Given the description of an element on the screen output the (x, y) to click on. 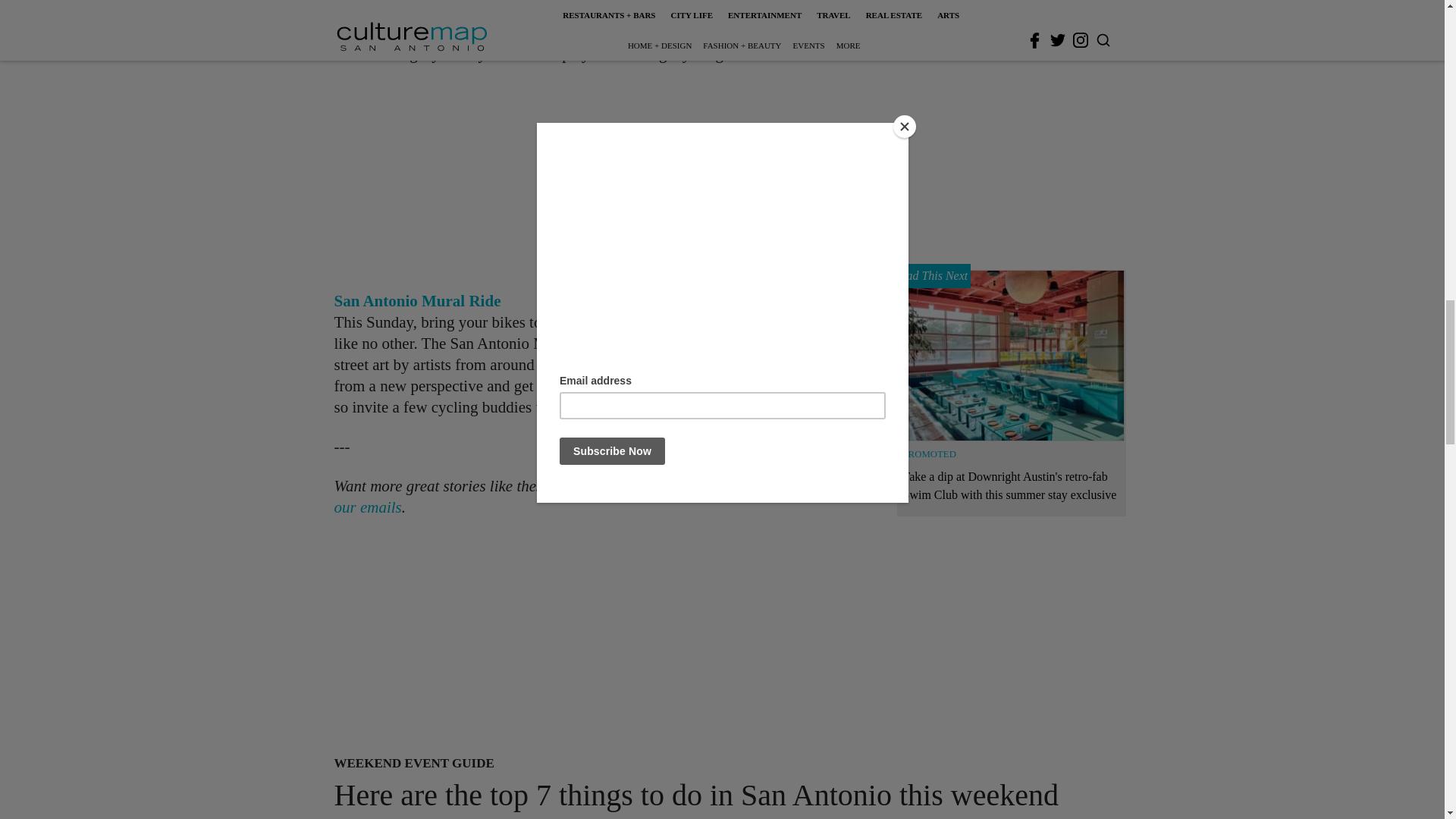
3rd party ad content (702, 639)
3rd party ad content (600, 176)
